Given the description of an element on the screen output the (x, y) to click on. 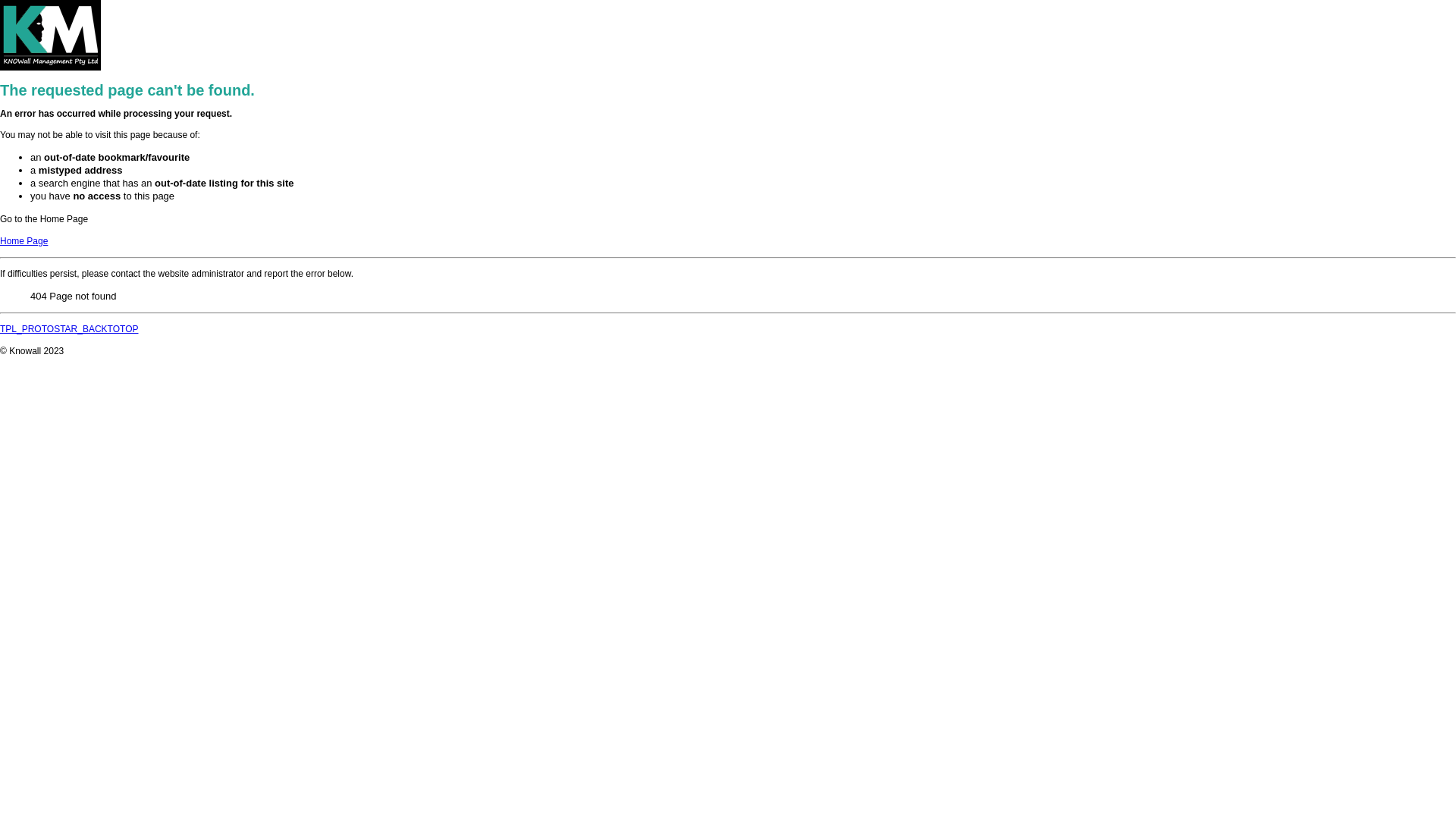
Home Page Element type: text (23, 240)
TPL_PROTOSTAR_BACKTOTOP Element type: text (69, 328)
